Given the description of an element on the screen output the (x, y) to click on. 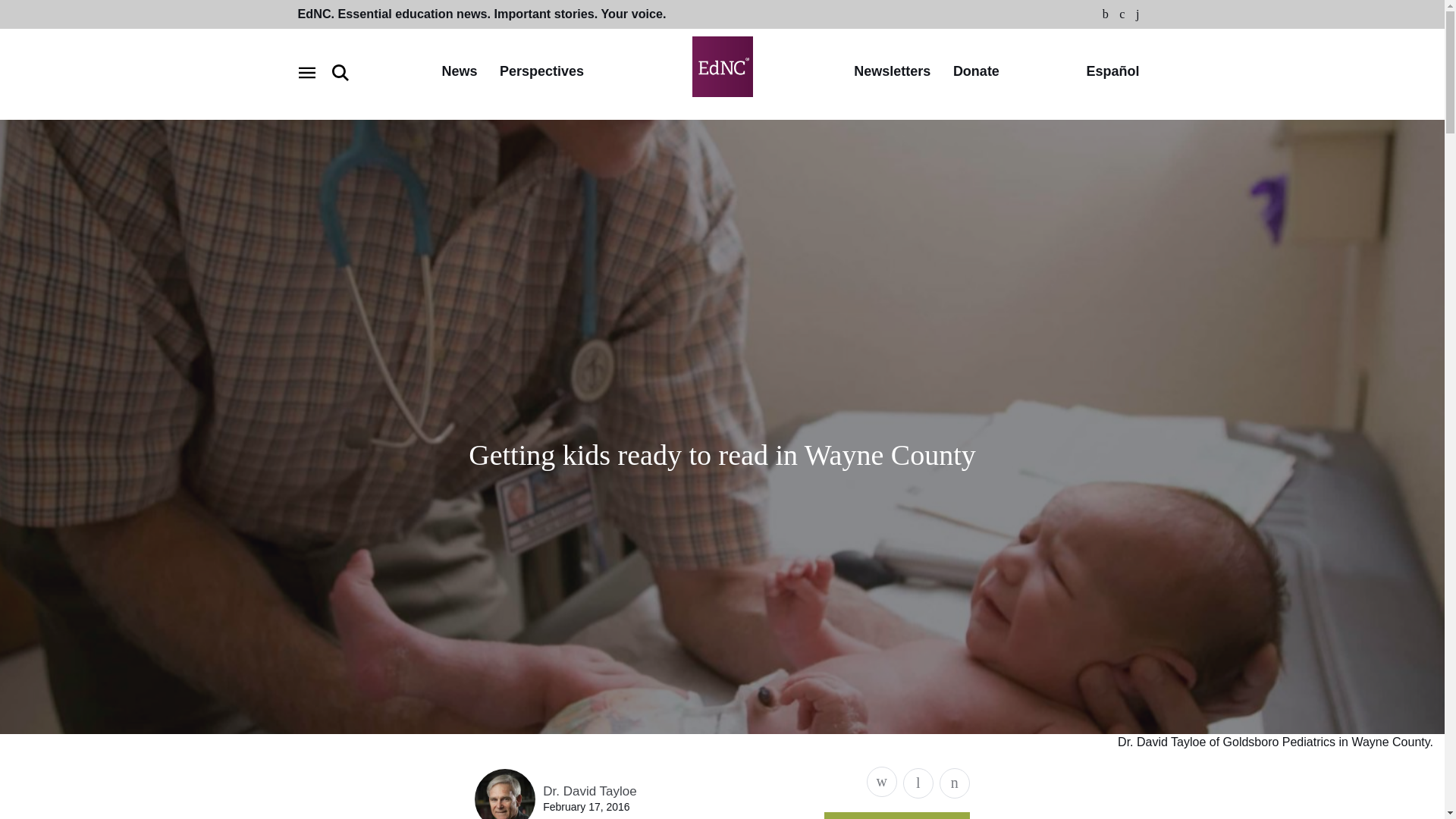
Share this page (881, 781)
News (459, 71)
Instagram (1137, 13)
Dr. David Tayloe (589, 790)
Twitter (1121, 13)
Open navigation (306, 72)
Newsletters (891, 71)
Donate (975, 71)
Perspectives (541, 71)
Facebook (1105, 13)
